Given the description of an element on the screen output the (x, y) to click on. 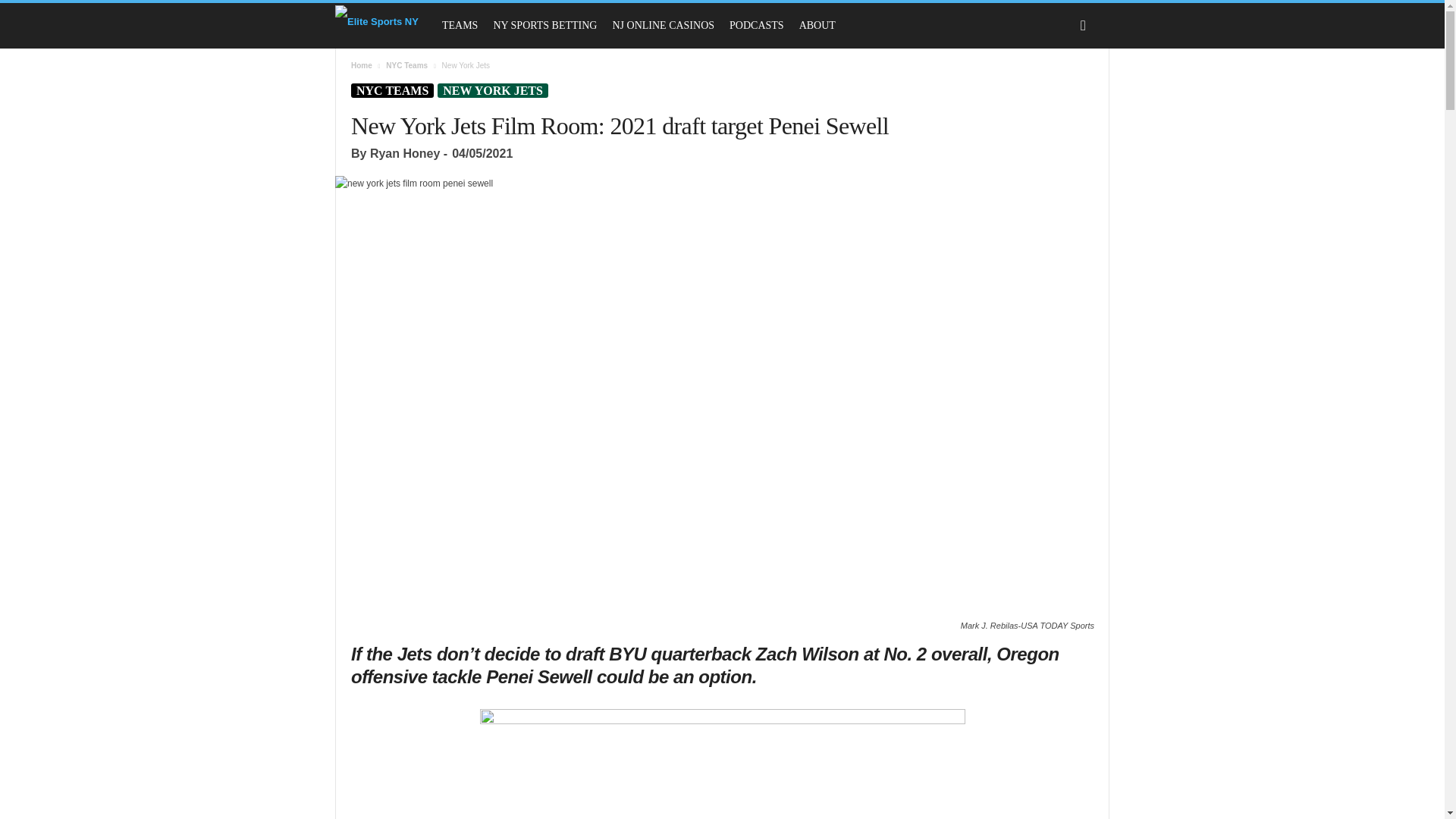
Elite Sports NY (376, 19)
TEAMS (458, 25)
View all posts in NYC Teams (406, 65)
Elite Sports NY (383, 19)
